Given the description of an element on the screen output the (x, y) to click on. 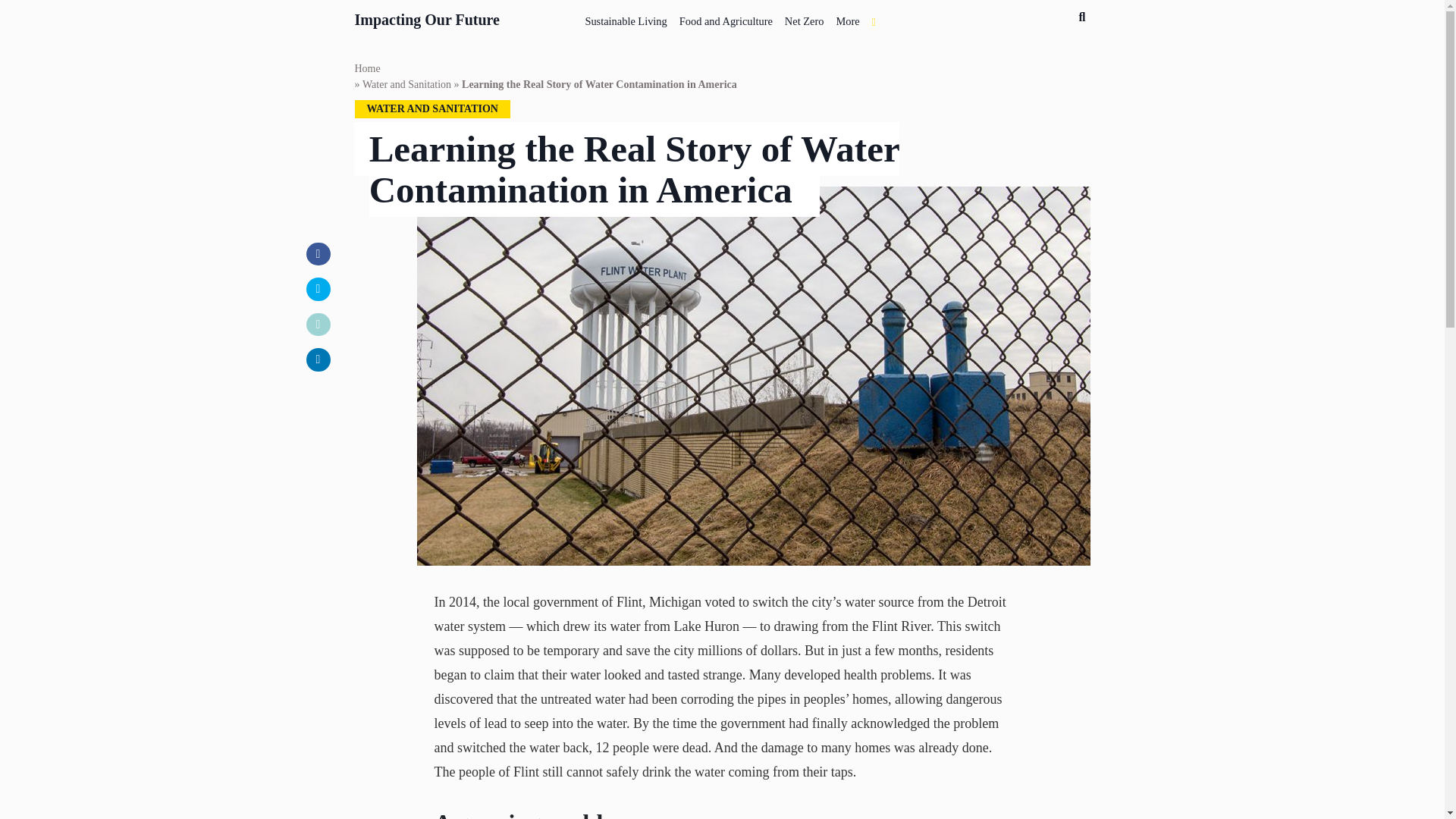
Impacting Our Future (427, 17)
Sustainable Living (625, 18)
More (846, 18)
Home (367, 68)
Food and Agriculture (725, 18)
Net Zero (803, 18)
Water and Sanitation (406, 84)
